Given the description of an element on the screen output the (x, y) to click on. 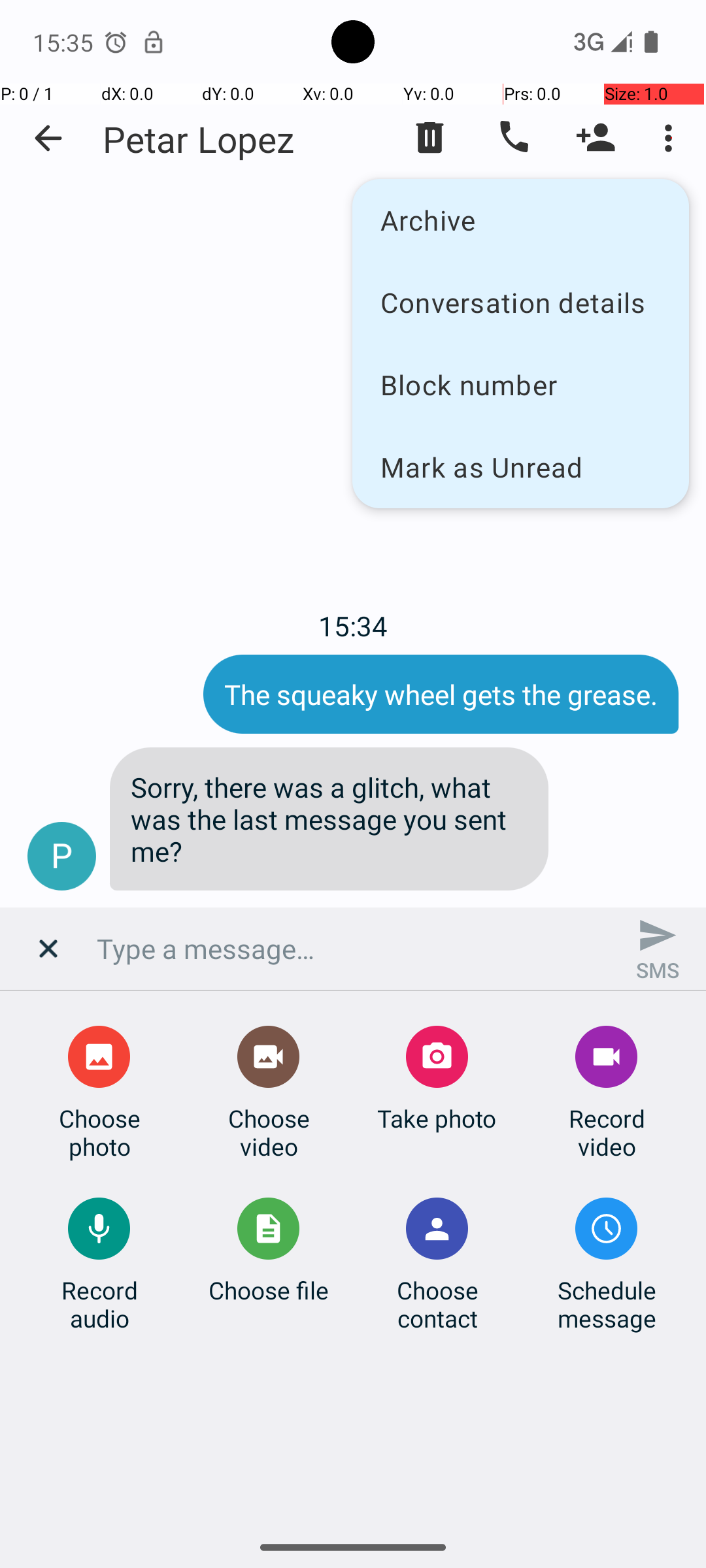
Conversation details Element type: android.widget.TextView (520, 301)
Block number Element type: android.widget.TextView (520, 384)
Mark as Unread Element type: android.widget.TextView (520, 466)
